Given the description of an element on the screen output the (x, y) to click on. 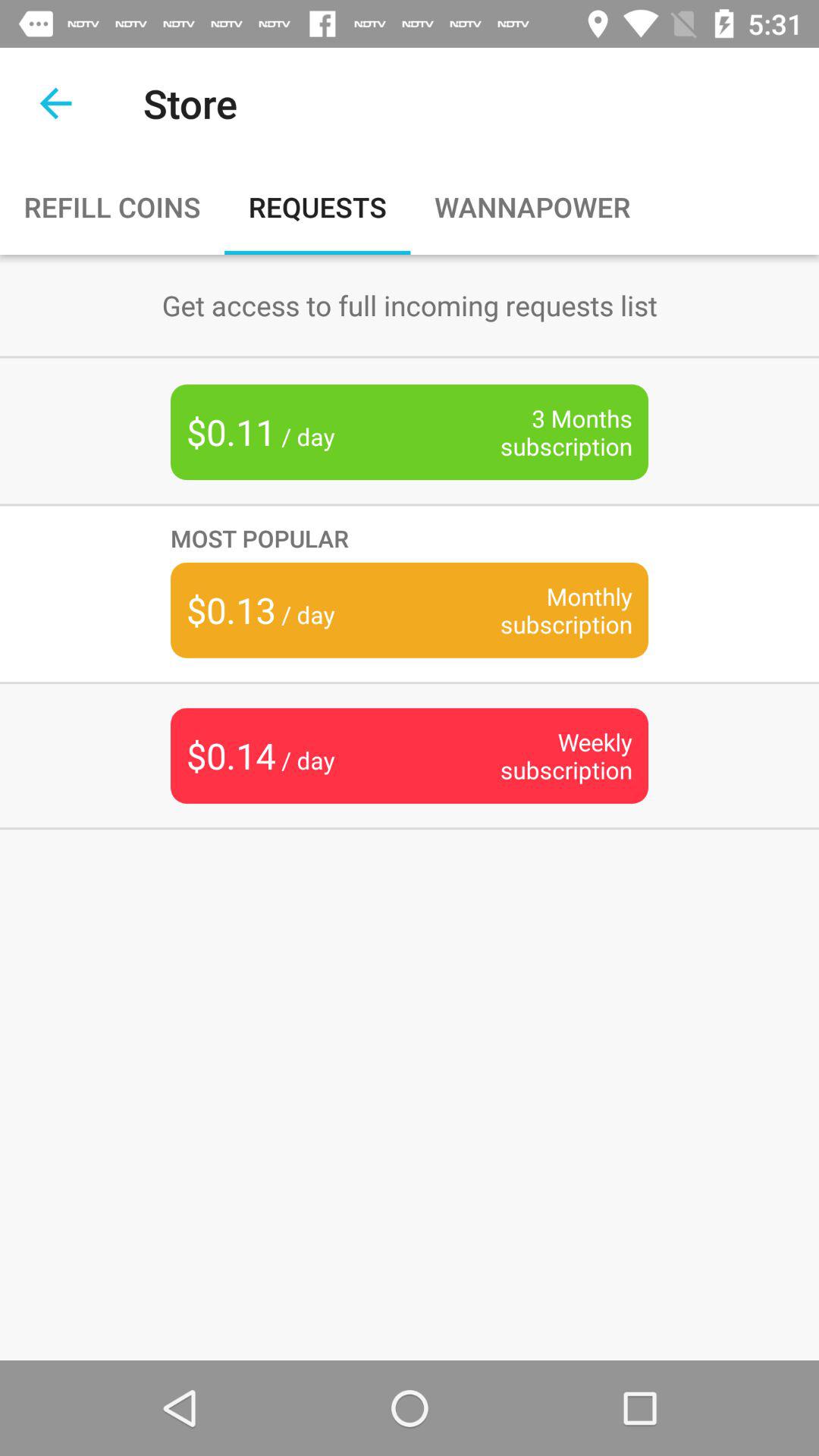
go back (55, 103)
